Given the description of an element on the screen output the (x, y) to click on. 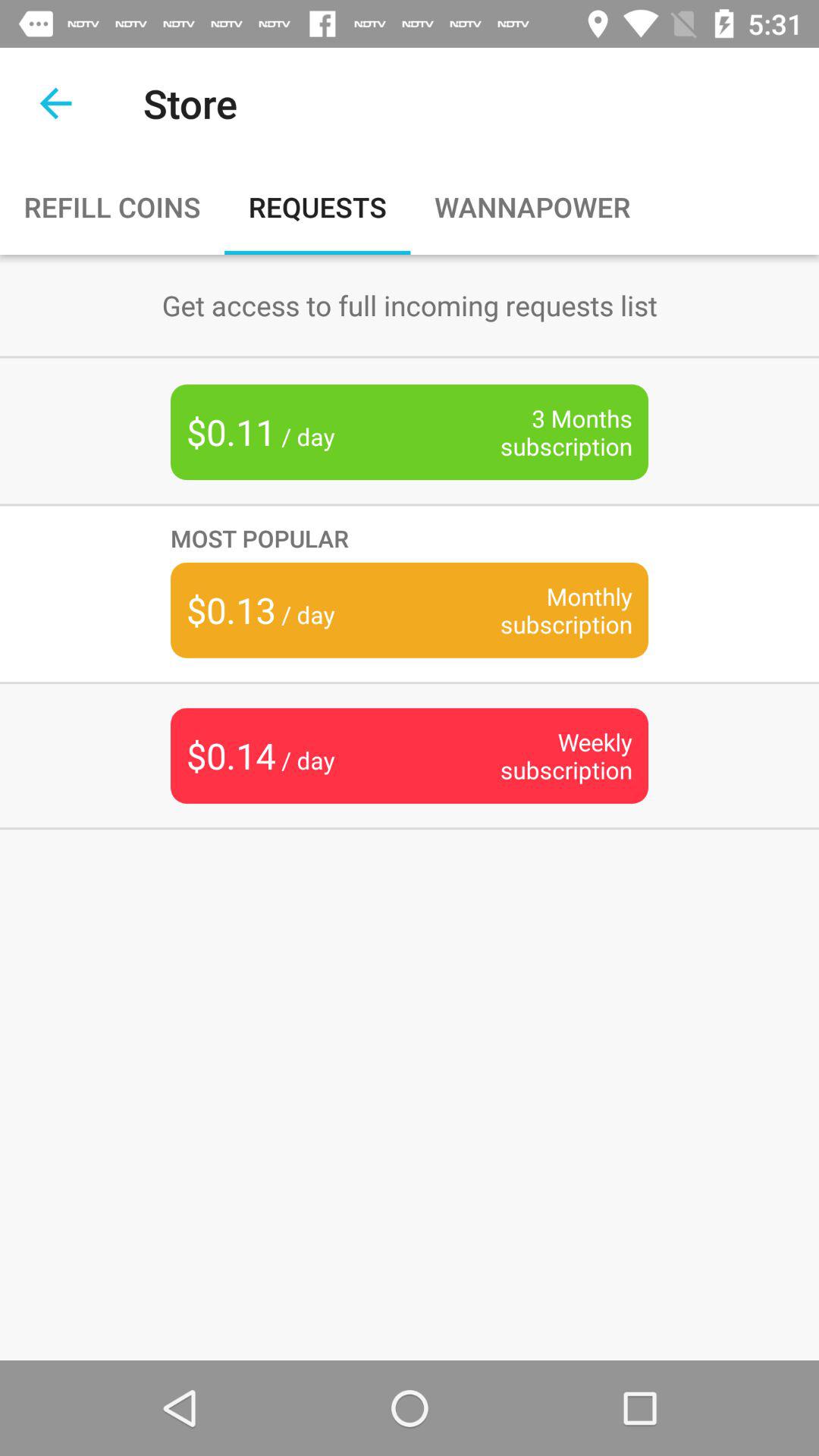
go back (55, 103)
